Given the description of an element on the screen output the (x, y) to click on. 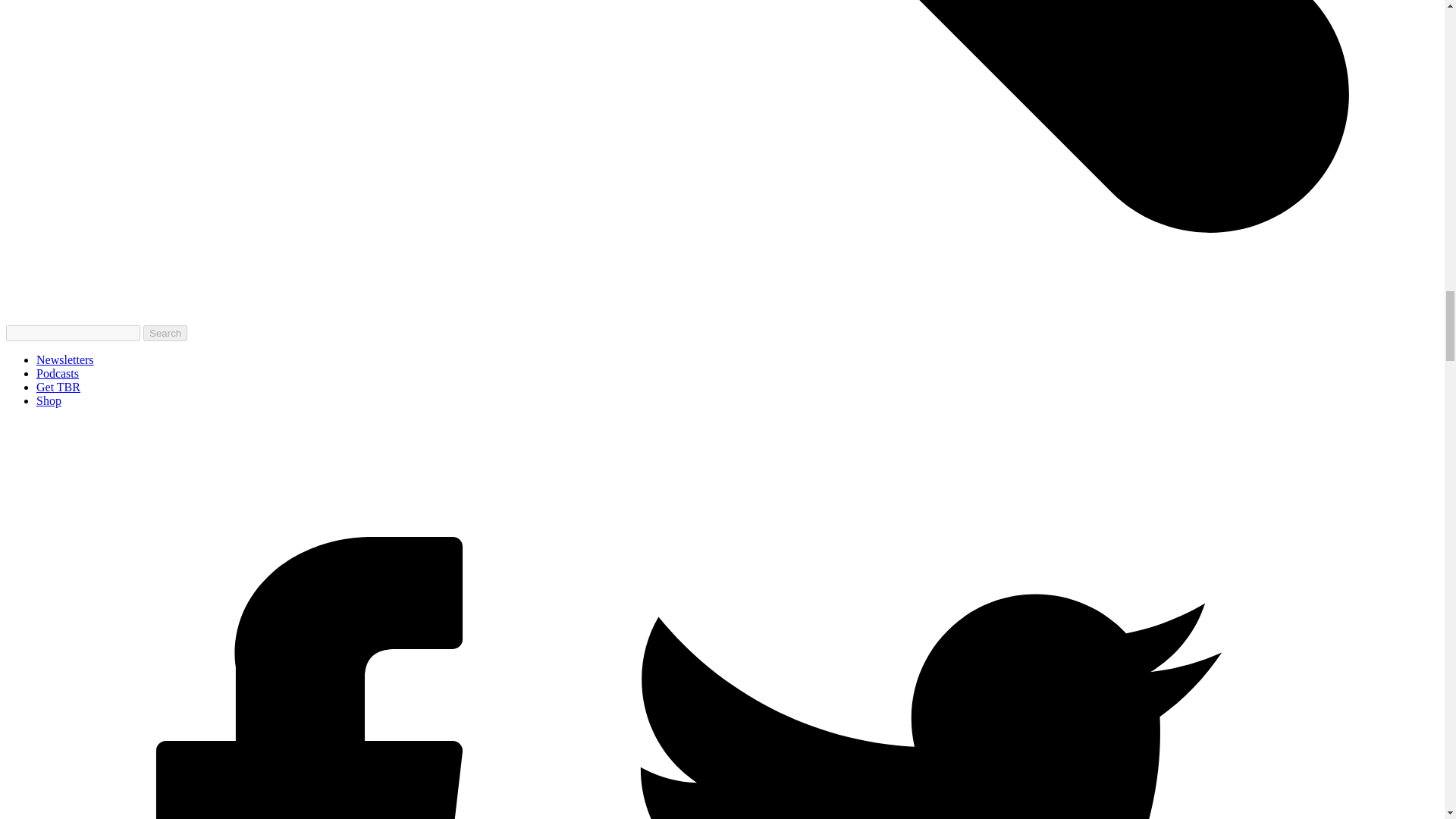
Search (164, 333)
